Given the description of an element on the screen output the (x, y) to click on. 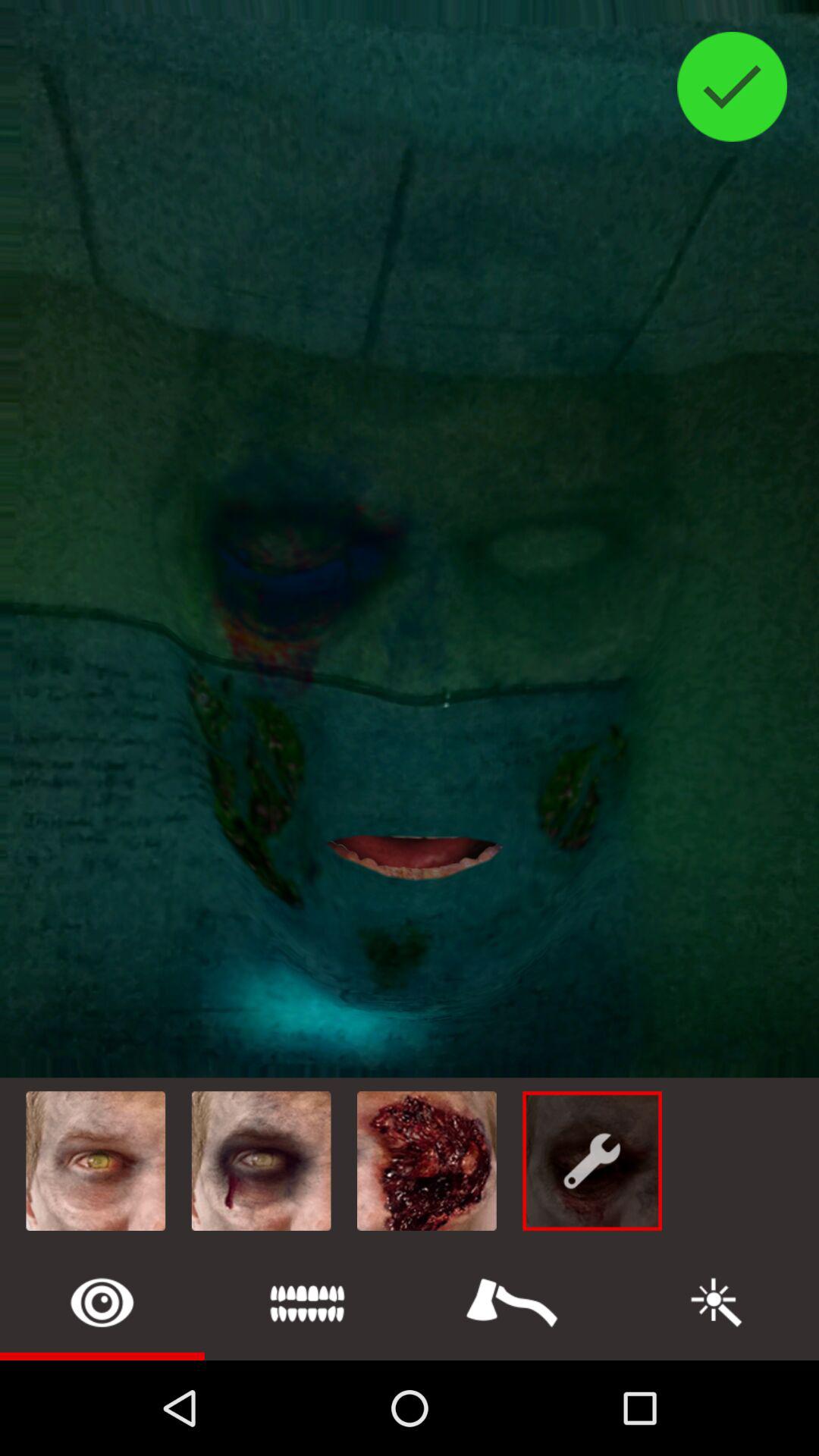
select or deselect (732, 86)
